Given the description of an element on the screen output the (x, y) to click on. 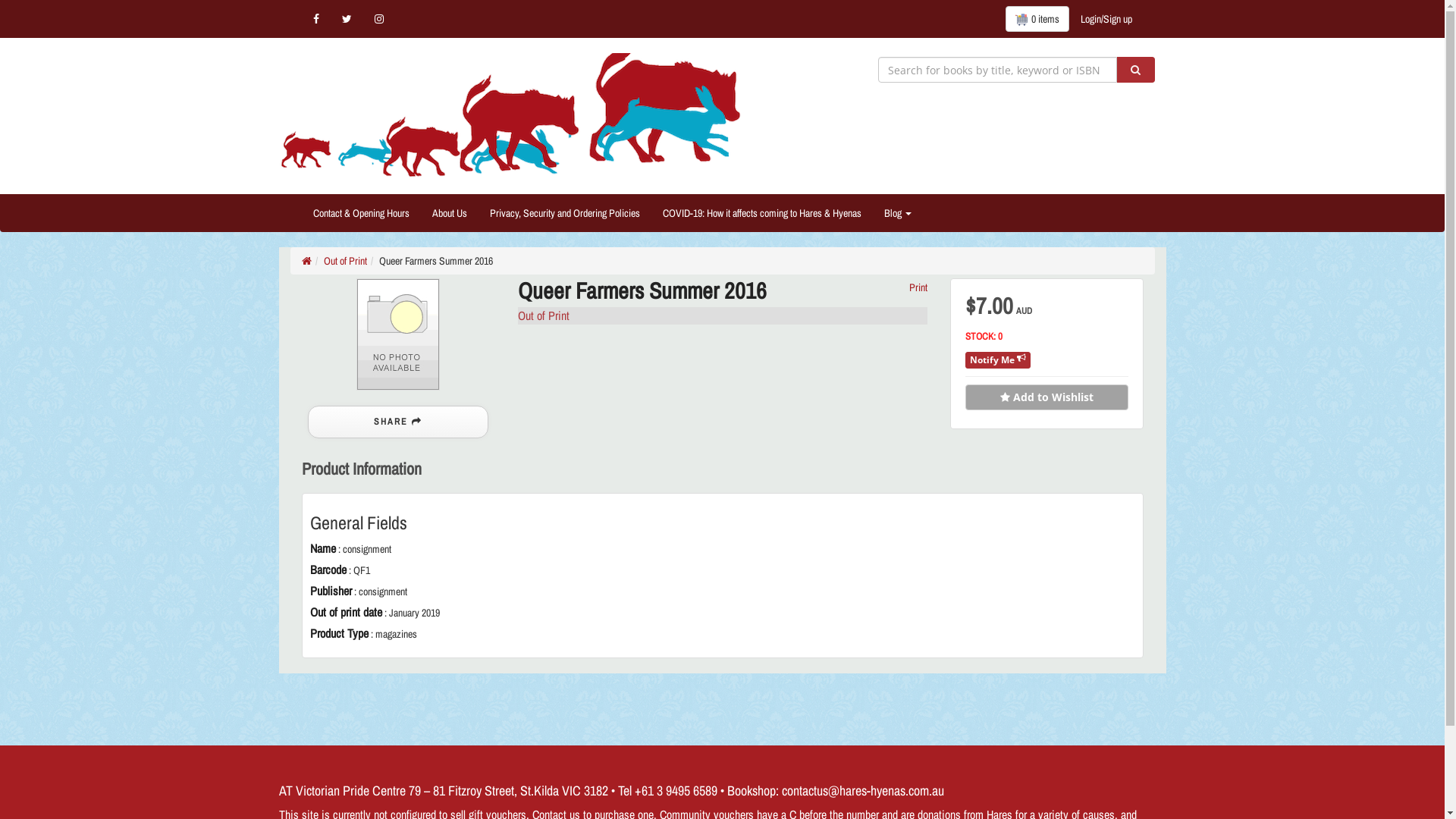
0 items Element type: text (1037, 18)
Out of Print Element type: text (542, 315)
Add to Wishlist Element type: text (1045, 397)
Blog  Element type: text (897, 213)
 Print Element type: text (916, 287)
SHARE Element type: text (397, 421)
contactus@hares-hyenas.com.au Element type: text (862, 790)
COVID-19: How it affects coming to Hares & Hyenas Element type: text (761, 213)
Out of Print Element type: text (344, 260)
Contact & Opening Hours Element type: text (360, 213)
Login/Sign up Element type: text (1106, 18)
0 items Element type: text (1037, 18)
Notify Me Element type: text (997, 359)
About Us Element type: text (448, 213)
Privacy, Security and Ordering Policies Element type: text (563, 213)
